Given the description of an element on the screen output the (x, y) to click on. 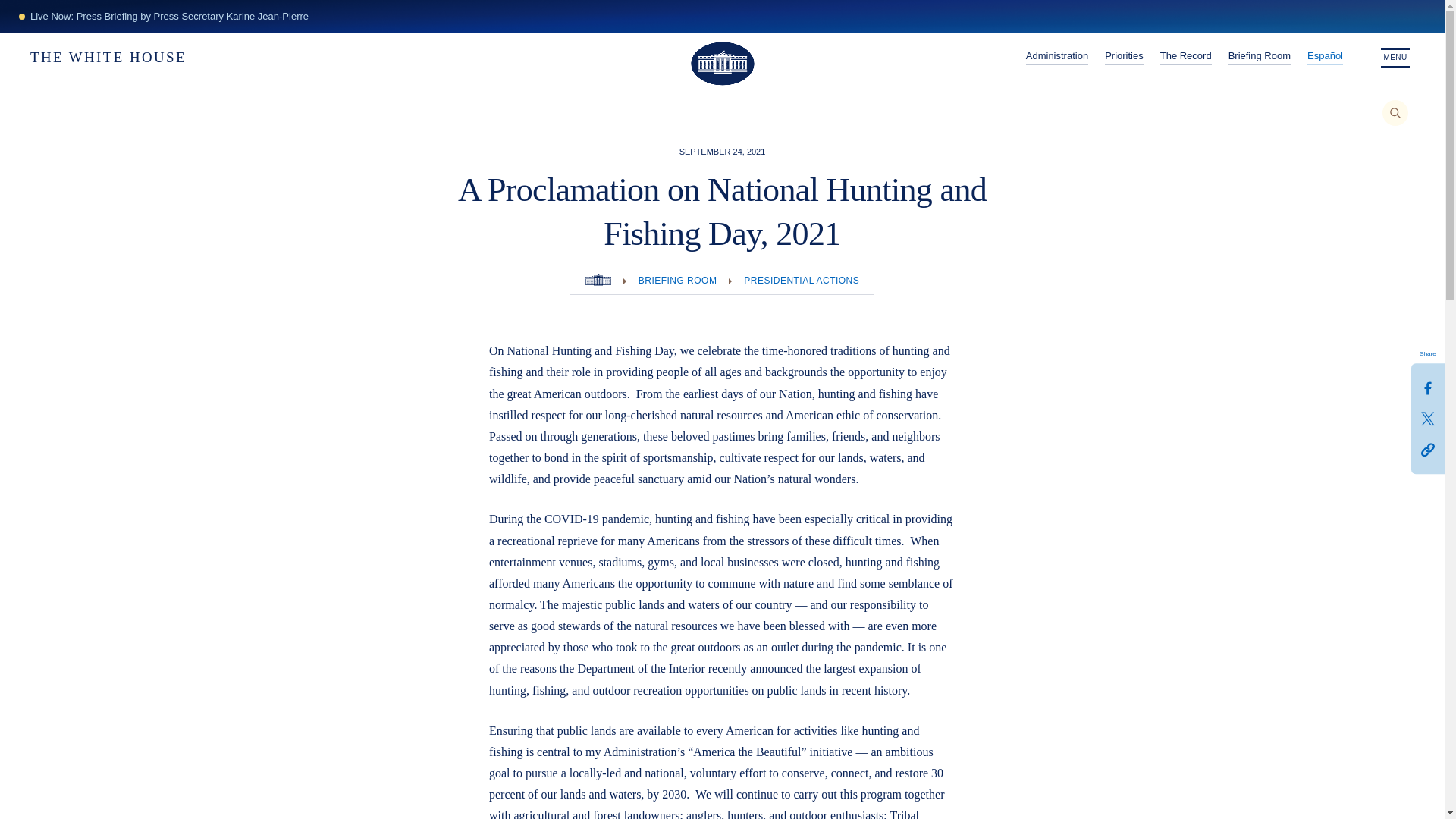
Priorities (1123, 57)
Administration (1056, 23)
Home (598, 281)
The Record (1185, 57)
THE WHITE HOUSE (161, 24)
Briefing Room (1259, 57)
